Given the description of an element on the screen output the (x, y) to click on. 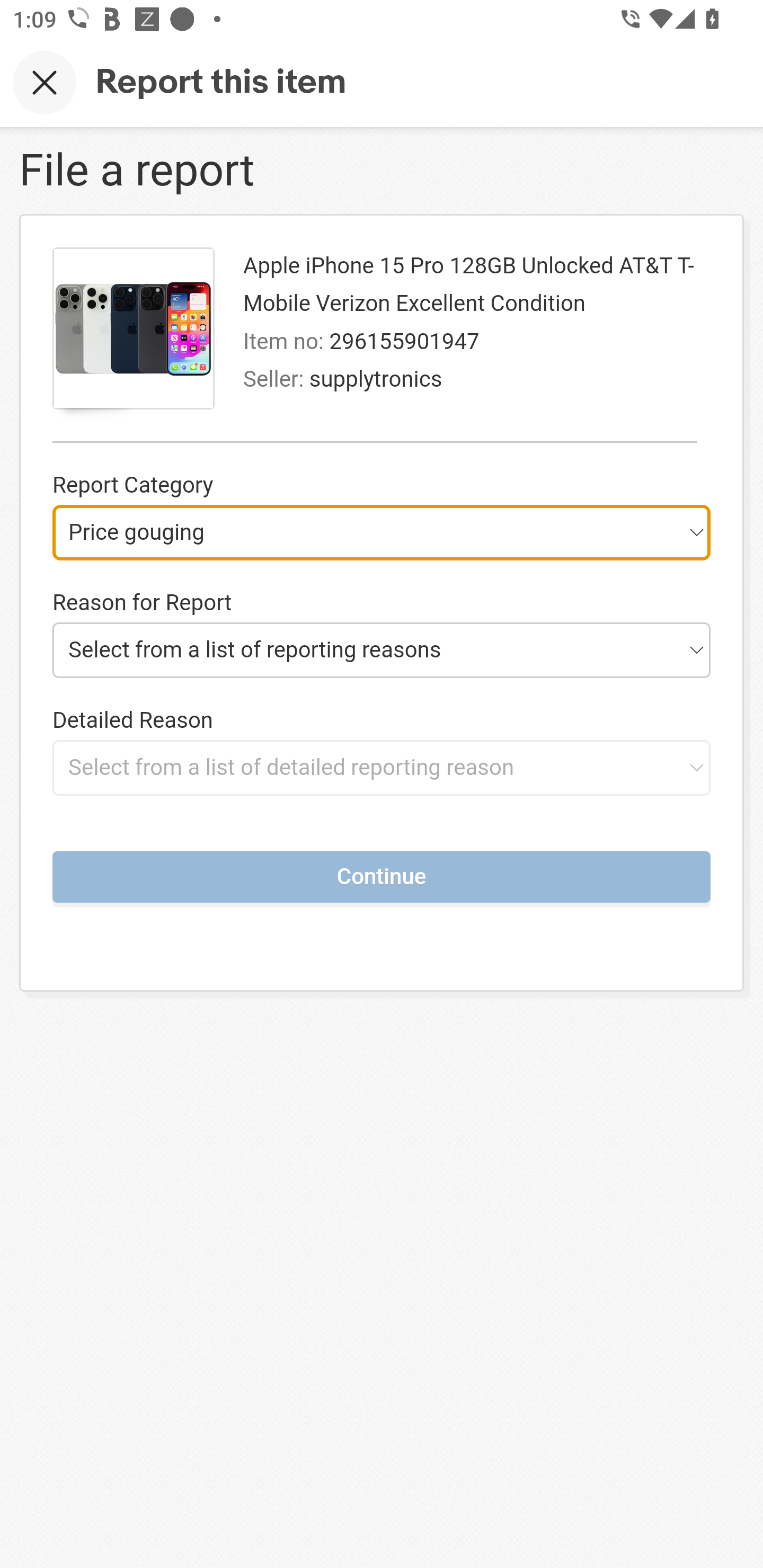
Close (44, 82)
Price gouging (381, 532)
Select from a list of reporting reasons (381, 649)
Select from a list of detailed reporting reason (381, 767)
Continue (381, 876)
